Given the description of an element on the screen output the (x, y) to click on. 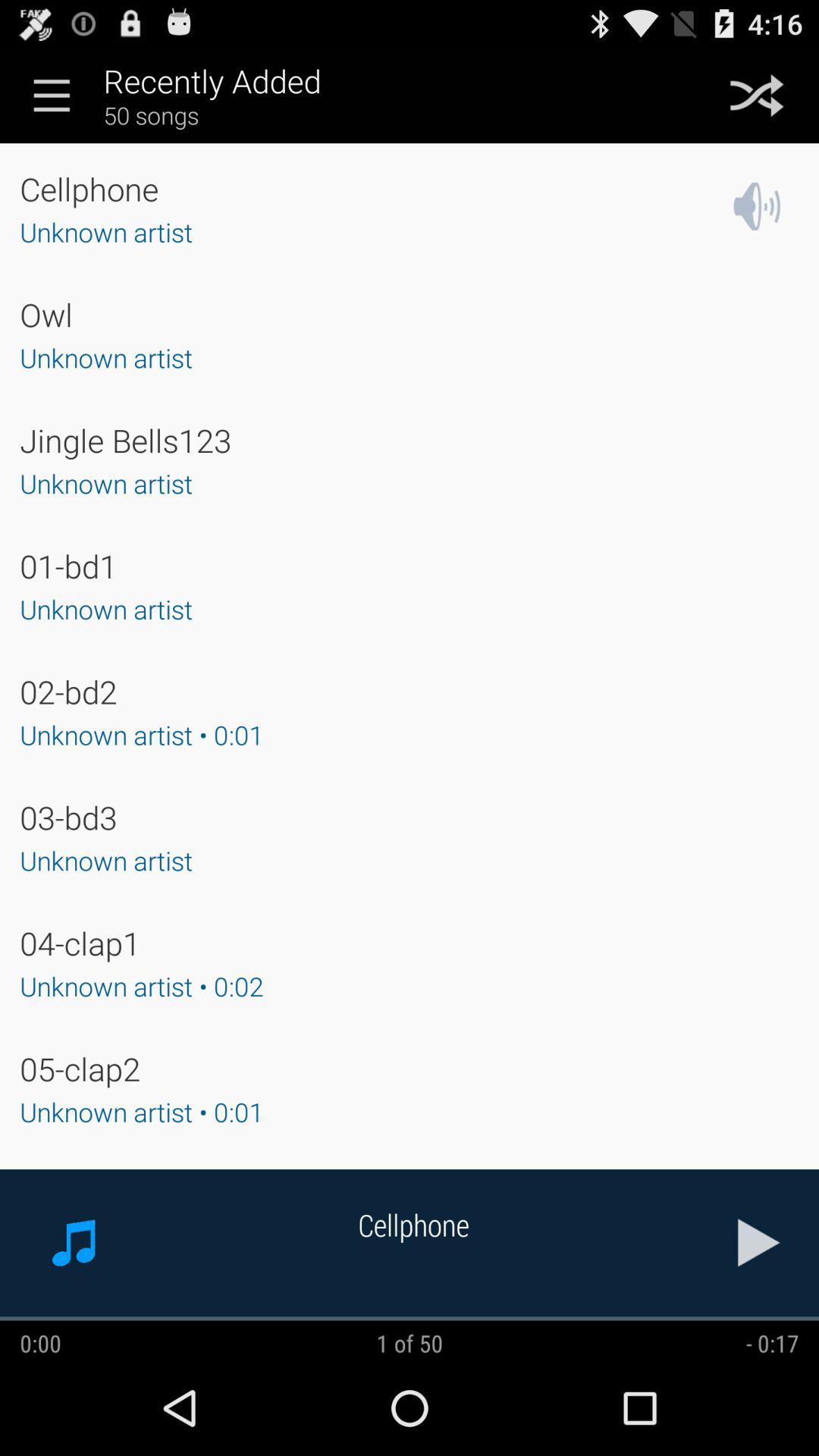
turn on item next to recently added (51, 95)
